Given the description of an element on the screen output the (x, y) to click on. 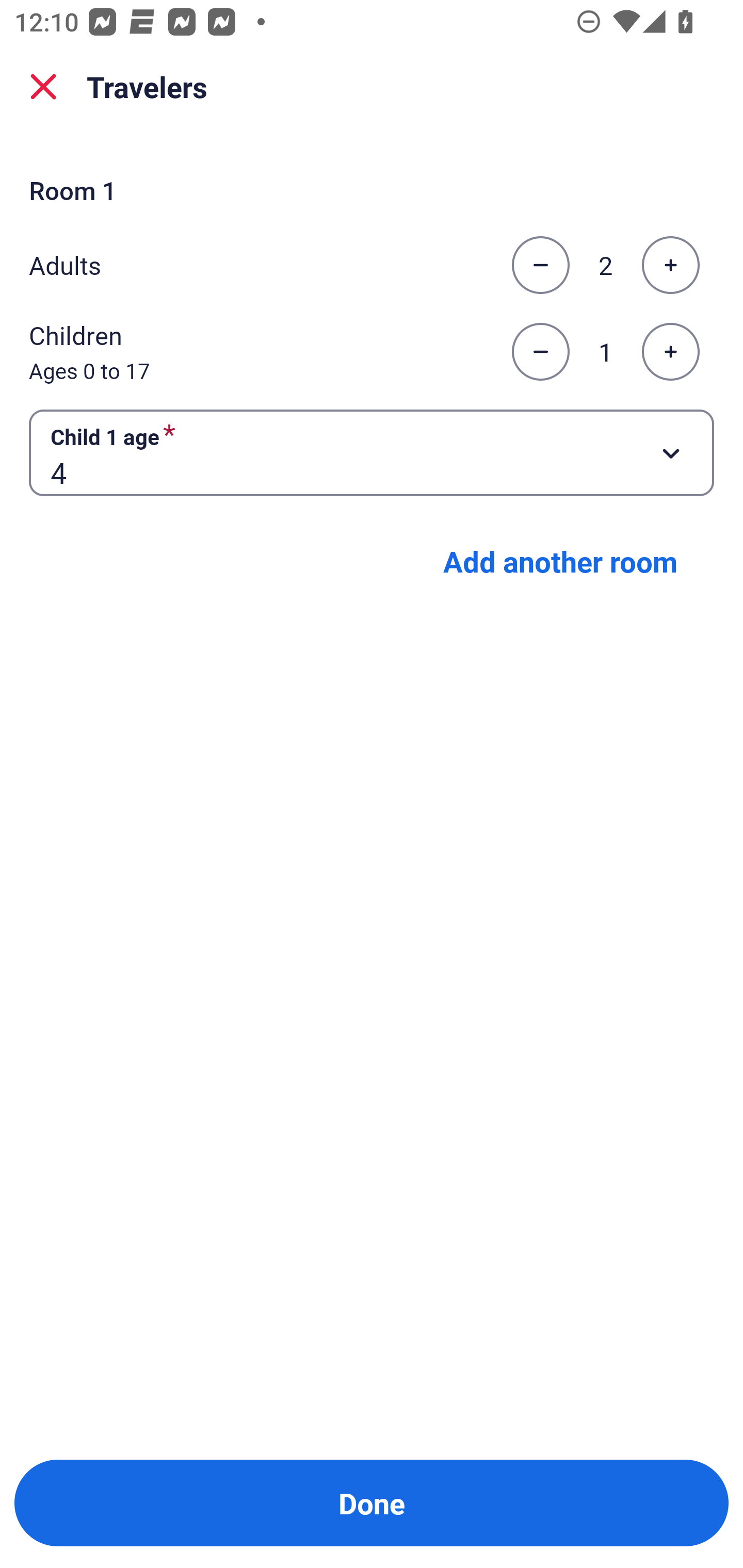
close (43, 86)
Decrease the number of adults (540, 264)
Increase the number of adults (670, 264)
Decrease the number of children (540, 351)
Increase the number of children (670, 351)
Child 1 age required Button 4 (371, 452)
Add another room (560, 561)
Done (371, 1502)
